Given the description of an element on the screen output the (x, y) to click on. 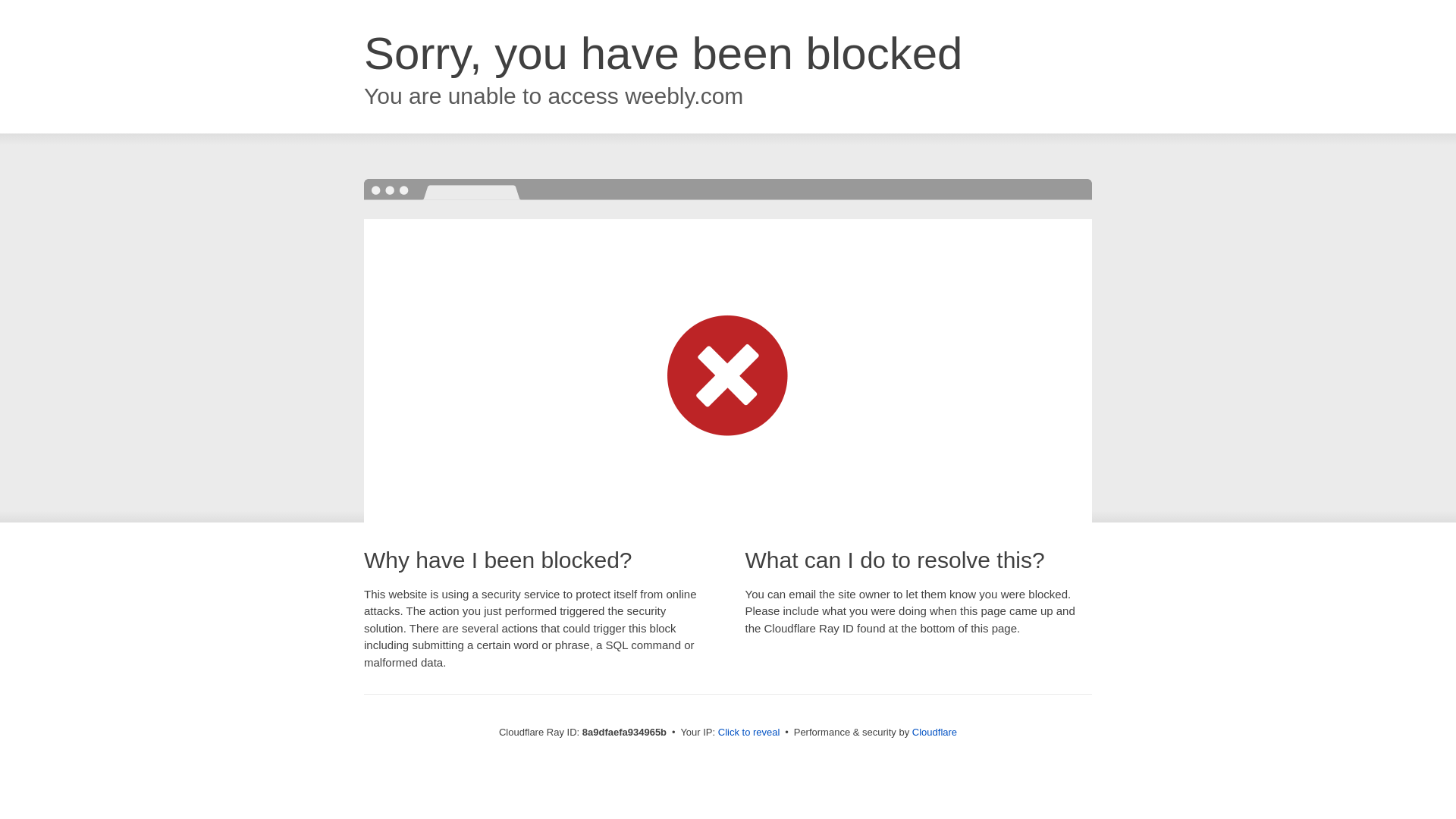
Click to reveal (748, 732)
Cloudflare (934, 731)
